Given the description of an element on the screen output the (x, y) to click on. 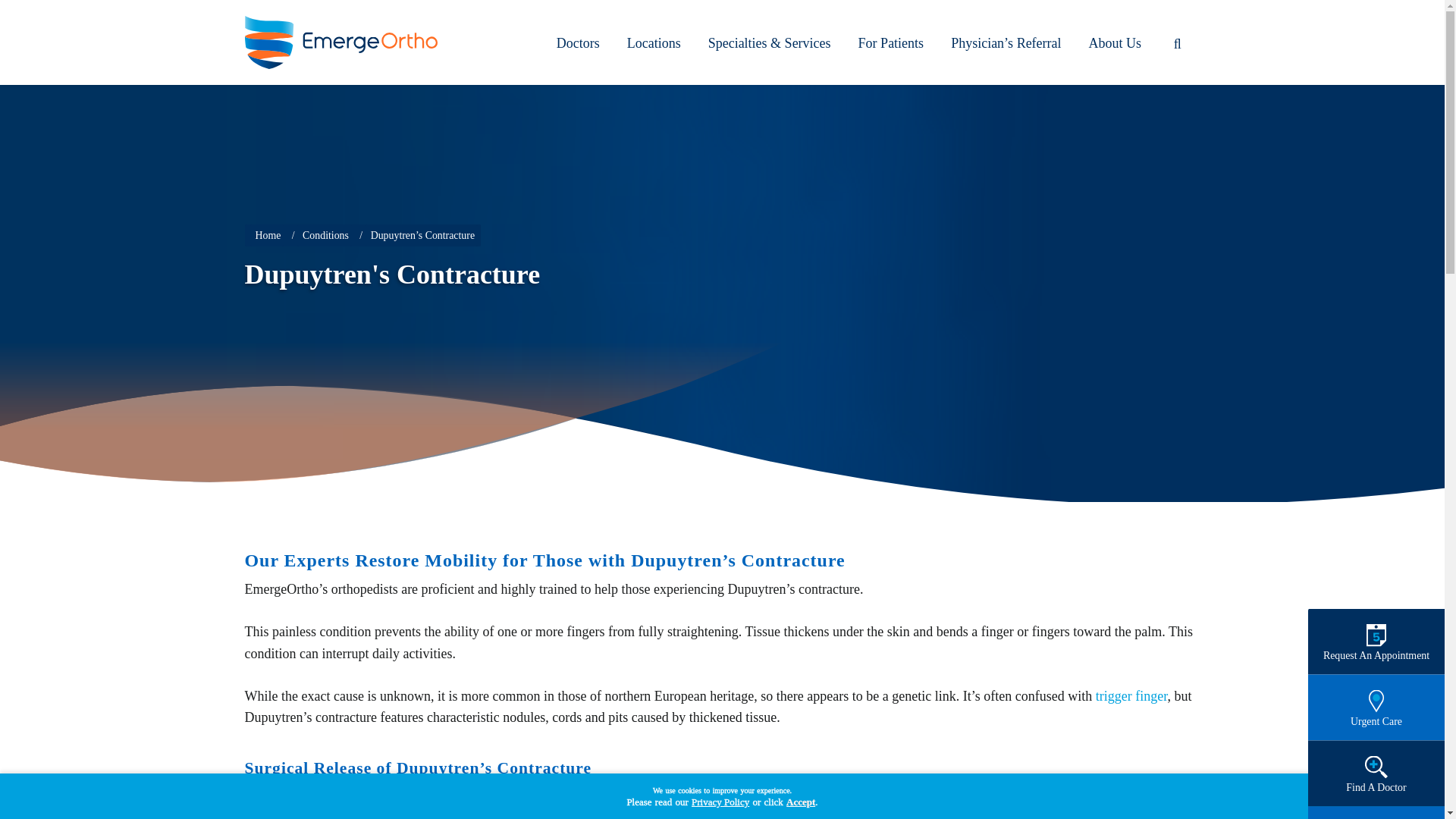
Locations (653, 42)
Privacy Policy (720, 802)
Accept (800, 802)
